Given the description of an element on the screen output the (x, y) to click on. 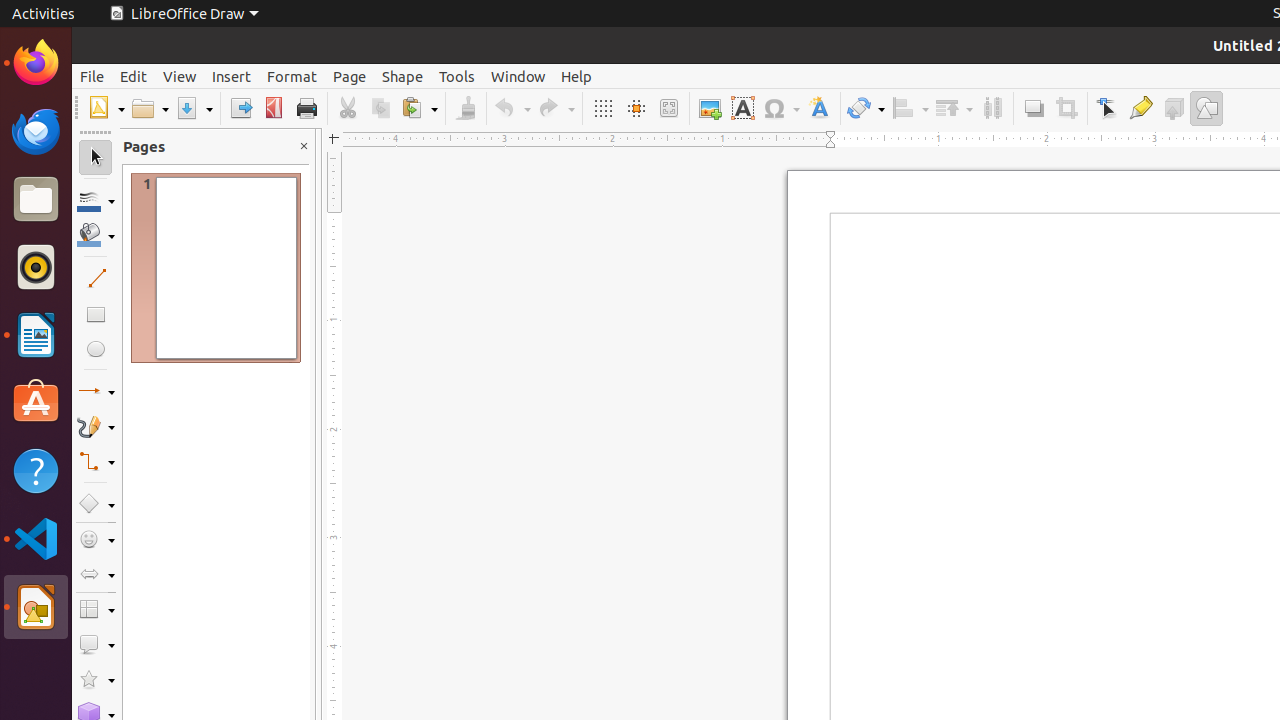
Rectangle Element type: push-button (95, 313)
Paste Element type: push-button (419, 108)
Copy Element type: push-button (380, 108)
Edit Element type: menu (133, 76)
Glue Points Element type: push-button (1140, 108)
